Given the description of an element on the screen output the (x, y) to click on. 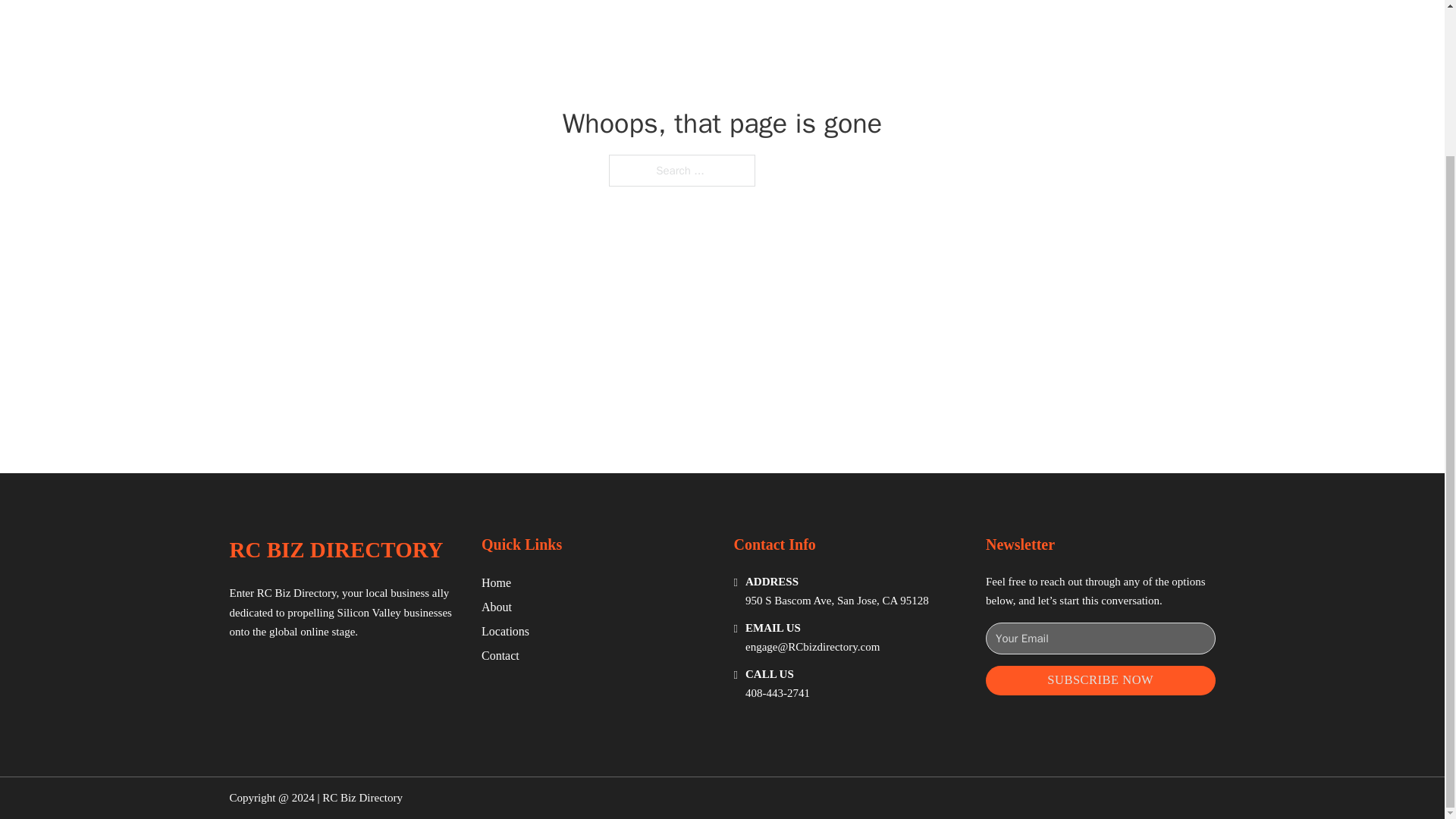
Contact (500, 655)
Locations (505, 630)
About (496, 607)
RC BIZ DIRECTORY (335, 549)
SUBSCRIBE NOW (1100, 680)
408-443-2741 (777, 693)
Home (496, 582)
